Given the description of an element on the screen output the (x, y) to click on. 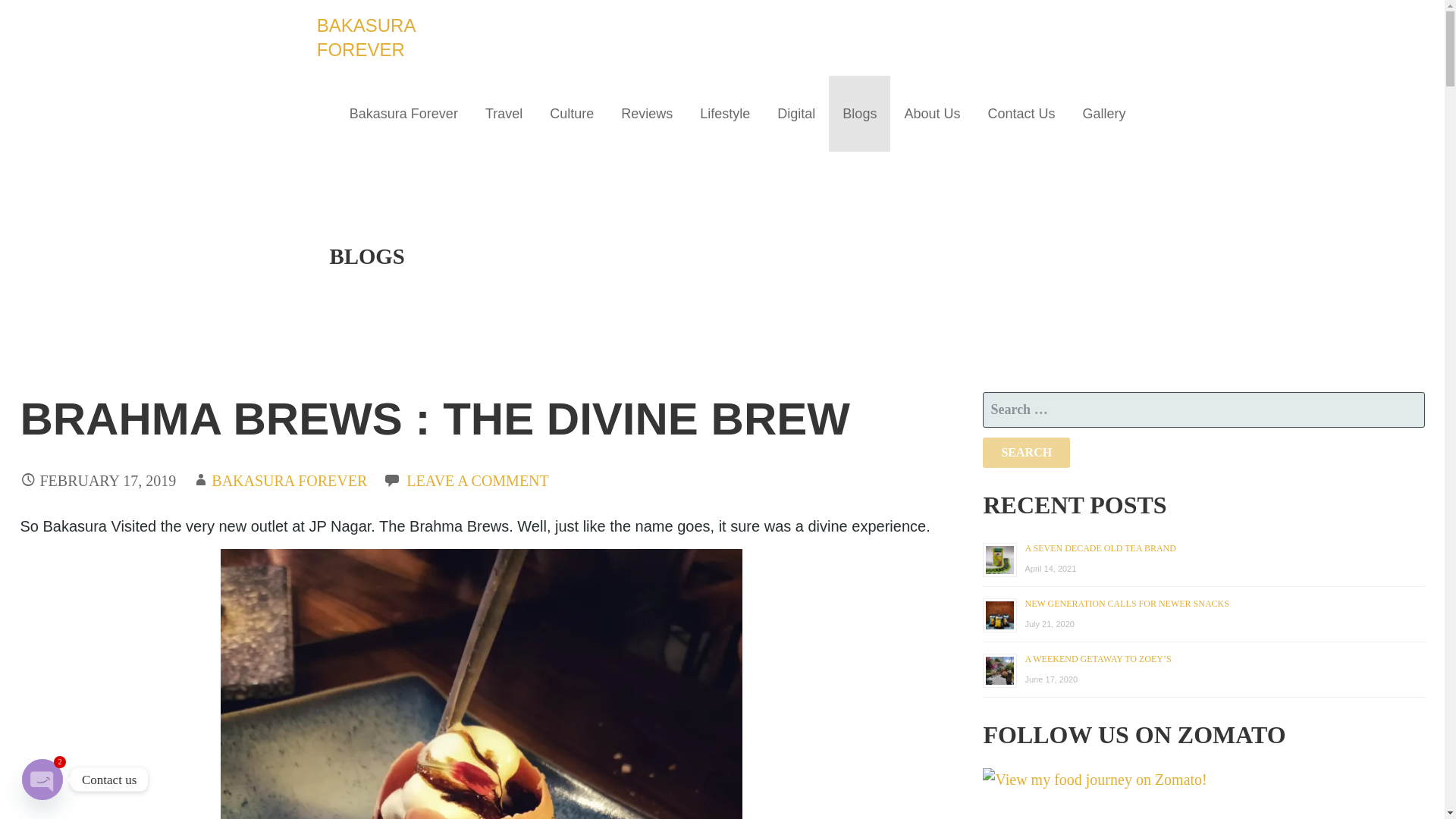
BAKASURA FOREVER (288, 480)
Search (1026, 452)
Bakasura Forever (403, 113)
Search (1026, 452)
Culture (571, 113)
Contact Us (1021, 113)
Gallery (1103, 113)
Search (1026, 452)
BAKASURA FOREVER (365, 37)
